Given the description of an element on the screen output the (x, y) to click on. 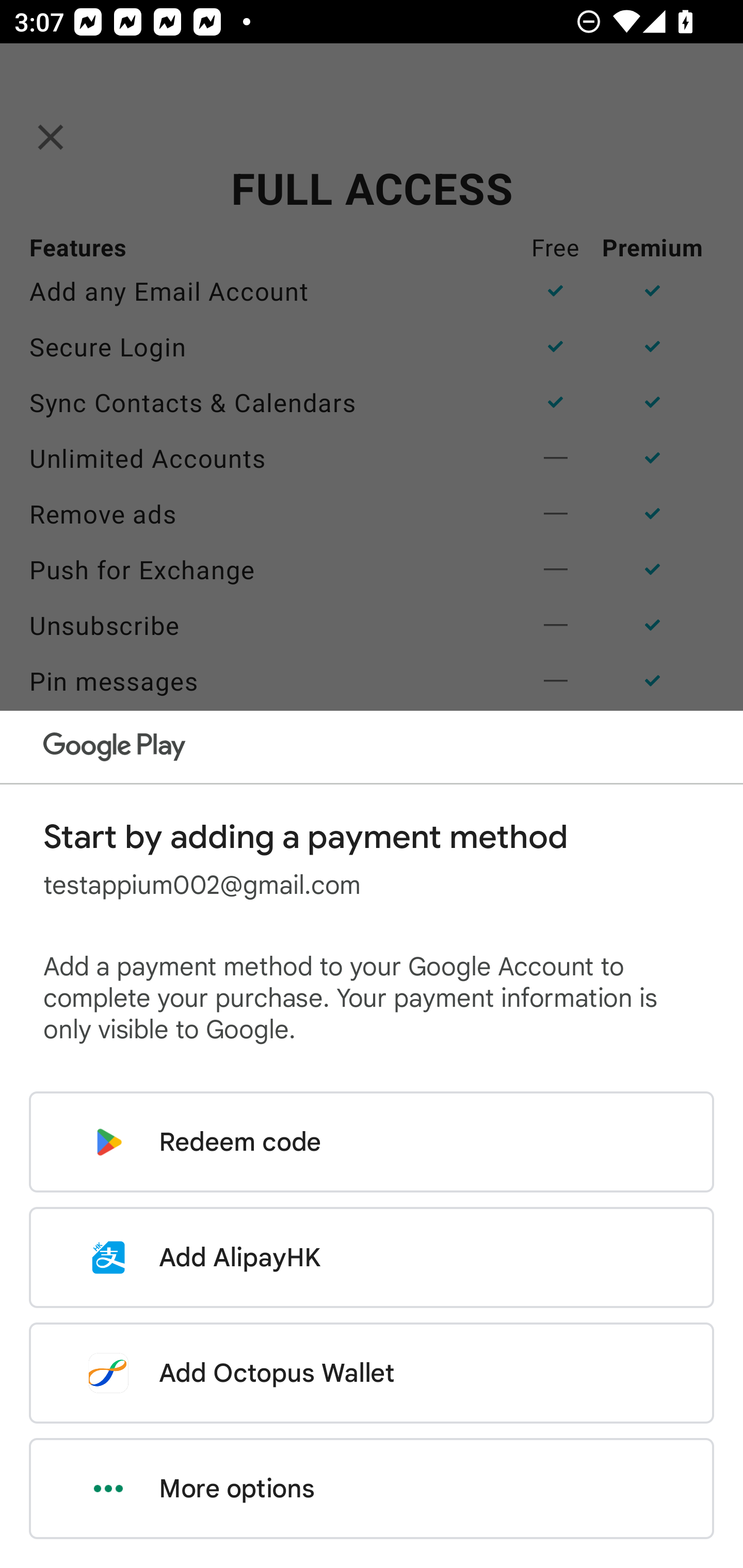
Redeem code (371, 1142)
Add AlipayHK (371, 1257)
Add Octopus Wallet (371, 1372)
More options (371, 1488)
